Given the description of an element on the screen output the (x, y) to click on. 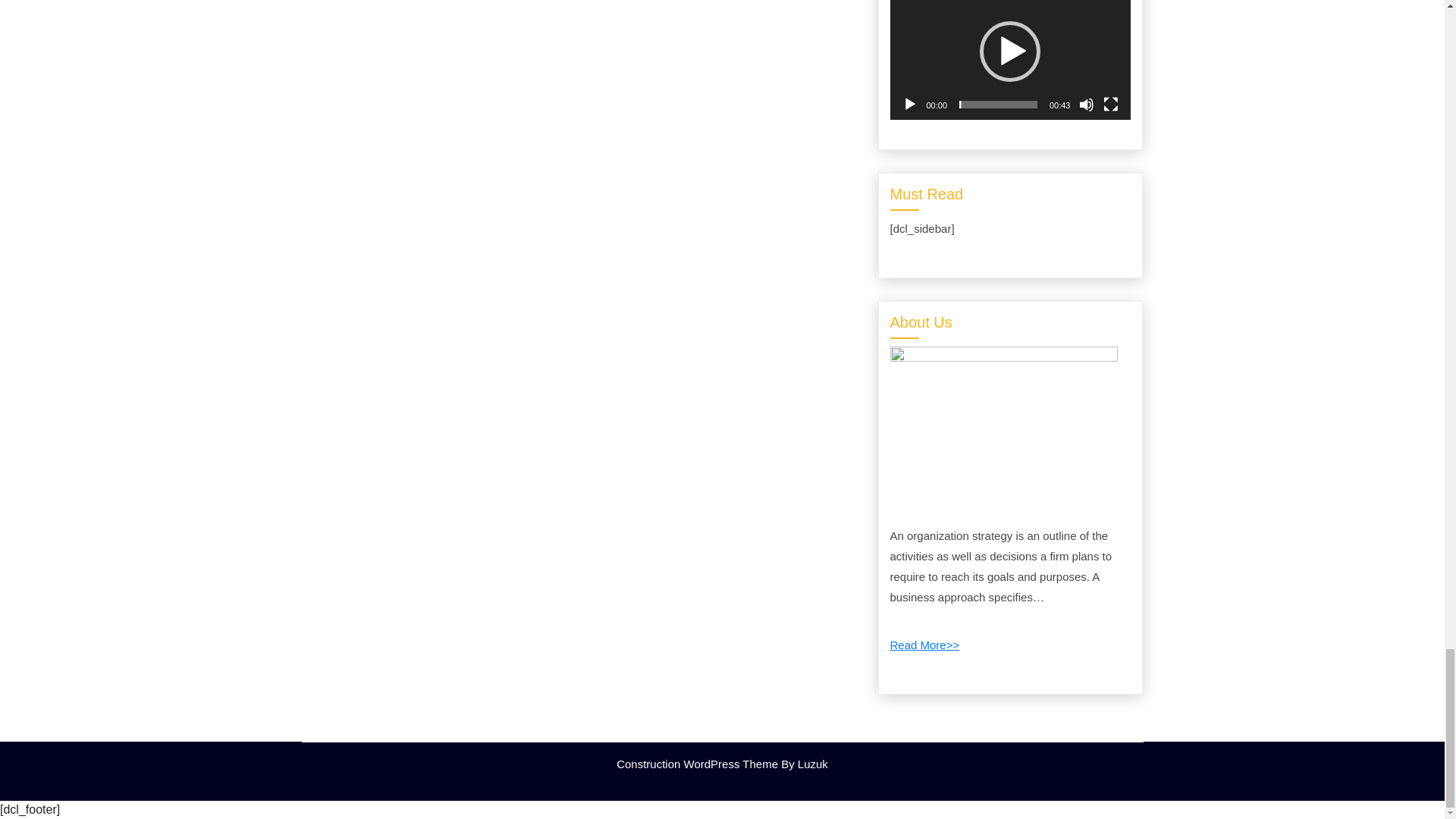
Fullscreen (1110, 104)
Mute (1086, 104)
Play (909, 104)
